Given the description of an element on the screen output the (x, y) to click on. 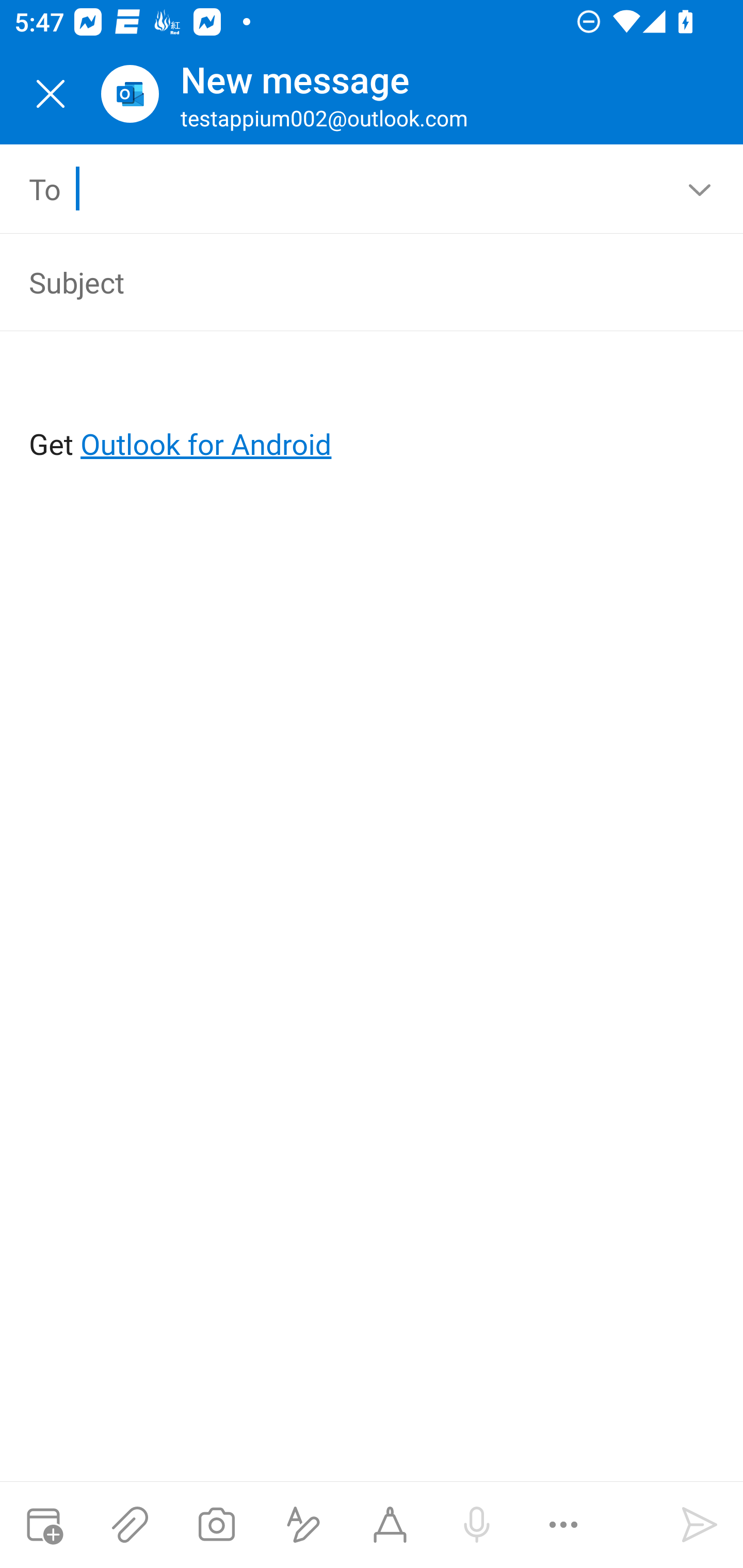
Close (50, 93)
Subject (342, 281)


Get Outlook for Android (372, 411)
Attach meeting (43, 1524)
Attach files (129, 1524)
Take a photo (216, 1524)
Show formatting options (303, 1524)
Start Ink compose (389, 1524)
More options (563, 1524)
Send (699, 1524)
